Given the description of an element on the screen output the (x, y) to click on. 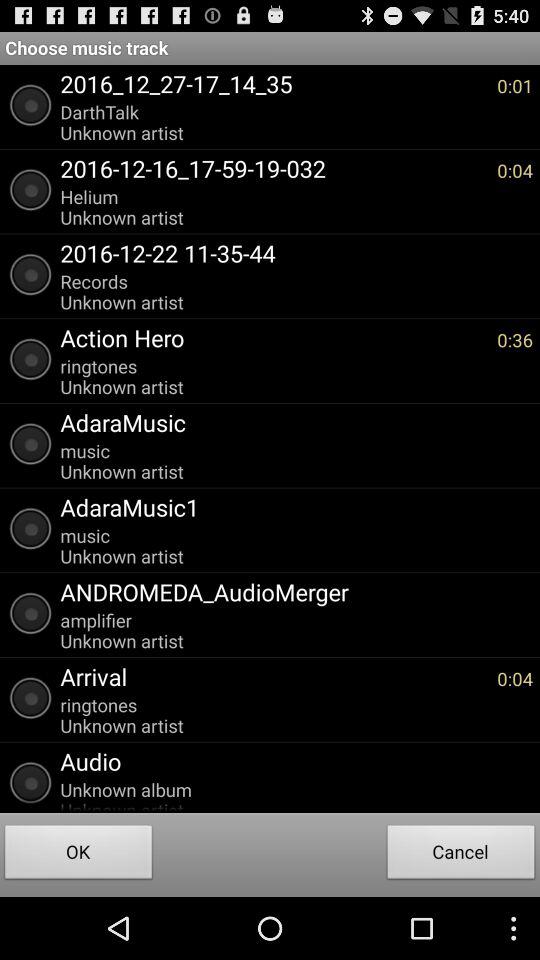
press the app next to the 0:36 (273, 337)
